Given the description of an element on the screen output the (x, y) to click on. 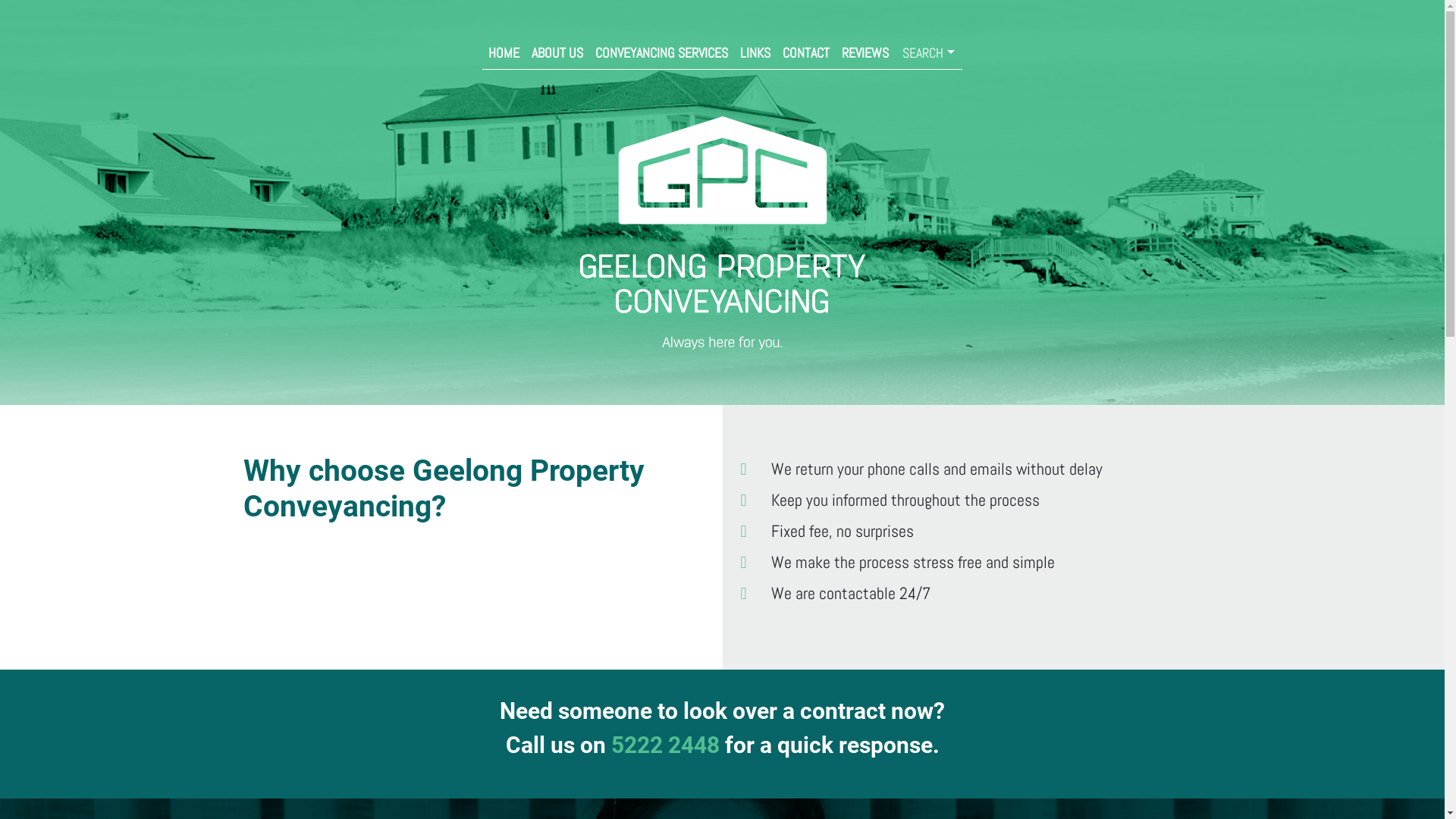
HOME Element type: text (503, 52)
CONVEYANCING SERVICES Element type: text (661, 52)
ABOUT US Element type: text (557, 52)
5222 2448 Element type: text (665, 744)
CONTACT Element type: text (805, 52)
LINKS Element type: text (755, 52)
REVIEWS Element type: text (864, 52)
SEARCH Element type: text (928, 52)
